Given the description of an element on the screen output the (x, y) to click on. 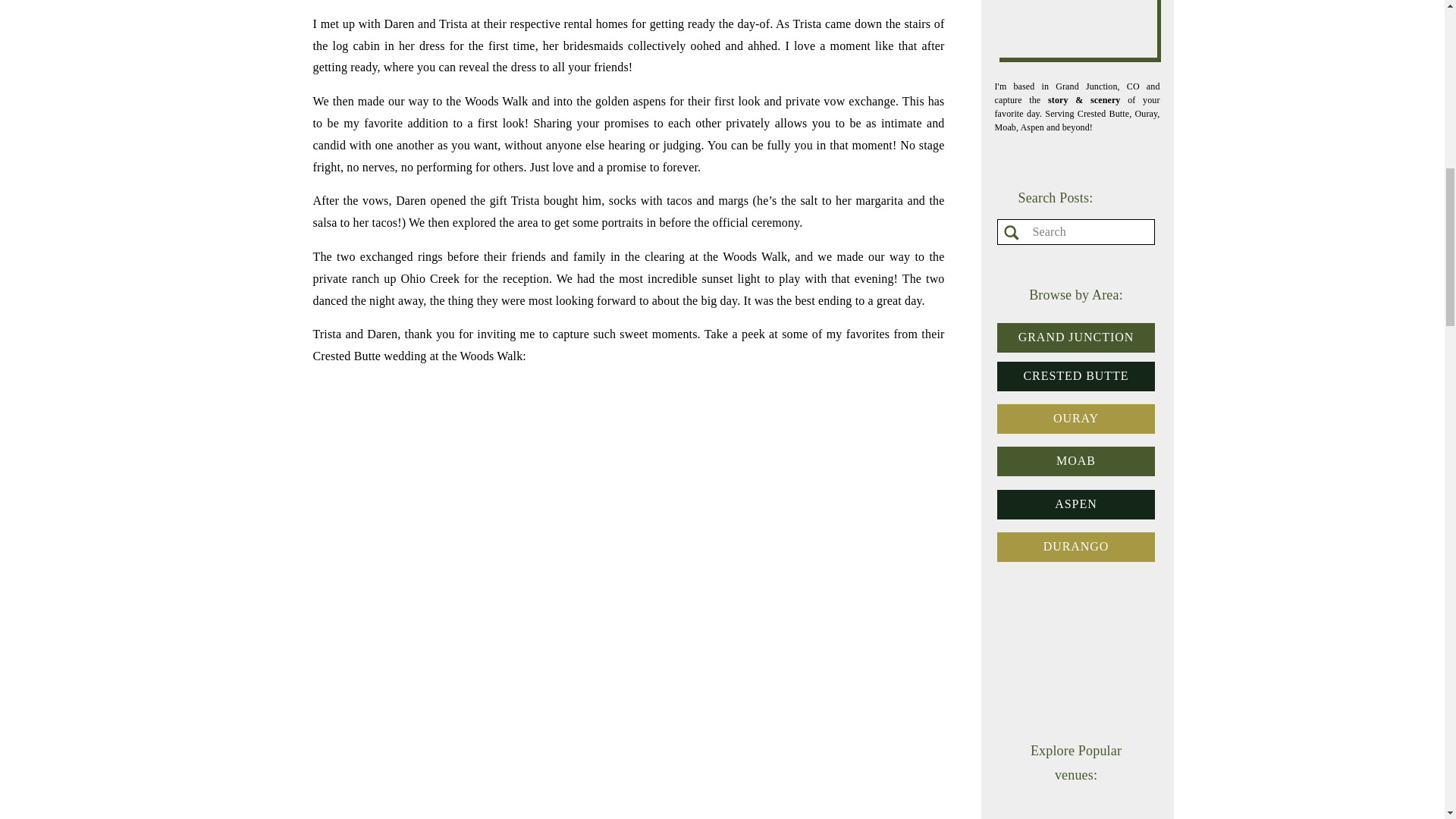
MOAB (1076, 461)
CRESTED BUTTE (1076, 376)
DURANGO (1076, 547)
ASPEN (1076, 504)
GRAND JUNCTION (1076, 337)
OURAY (1076, 418)
